Given the description of an element on the screen output the (x, y) to click on. 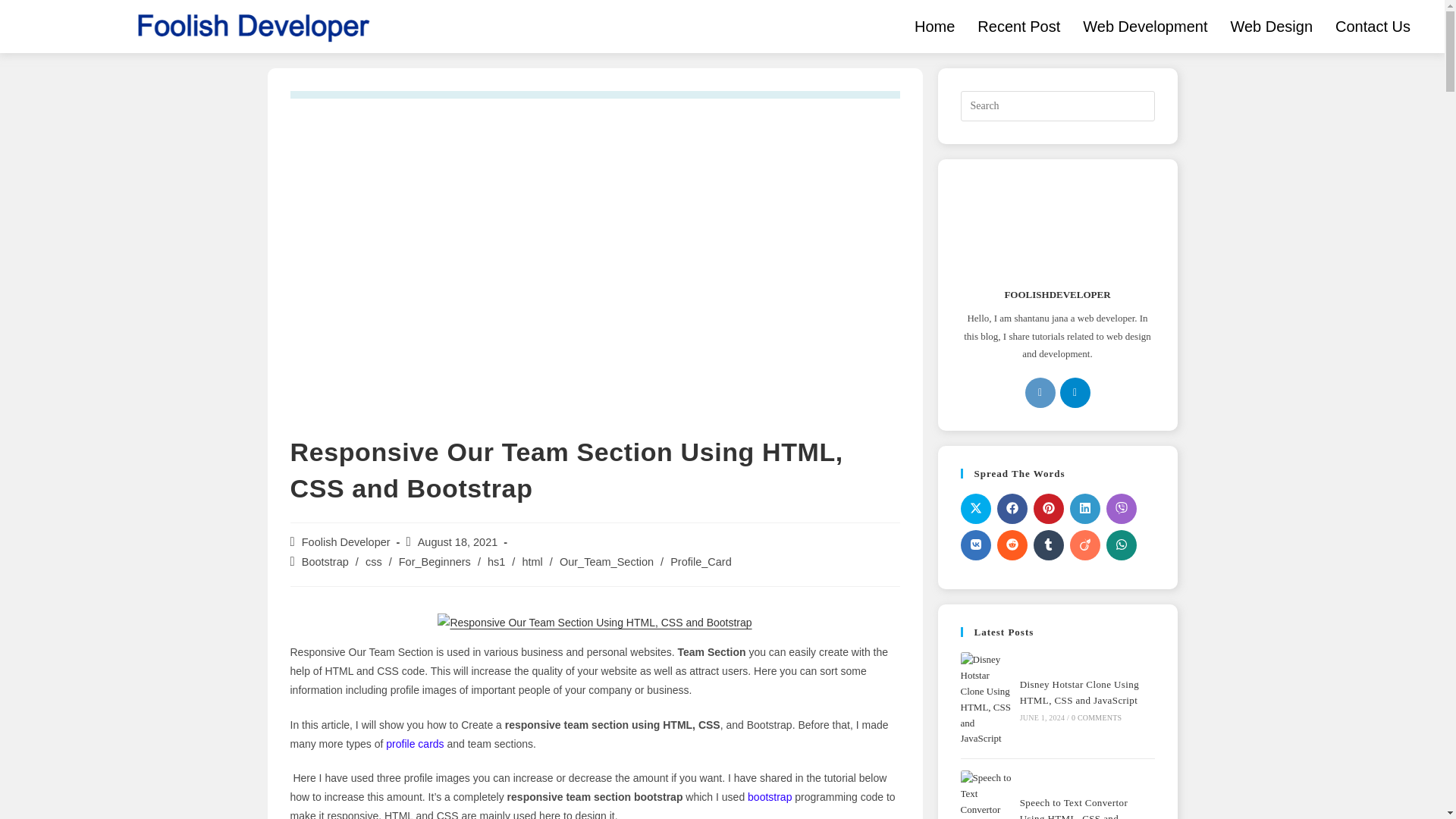
Web Design (1270, 26)
Web Development (1144, 26)
Contact Us (1372, 26)
Bootstrap (325, 562)
Share on Reddit (1010, 544)
Share on Viber (1120, 508)
Share on X (974, 508)
css (373, 562)
Share on Facebook (1010, 508)
Share on VK (974, 544)
Home (934, 26)
hs1 (496, 562)
Posts by Foolish Developer (345, 541)
html (531, 562)
